Given the description of an element on the screen output the (x, y) to click on. 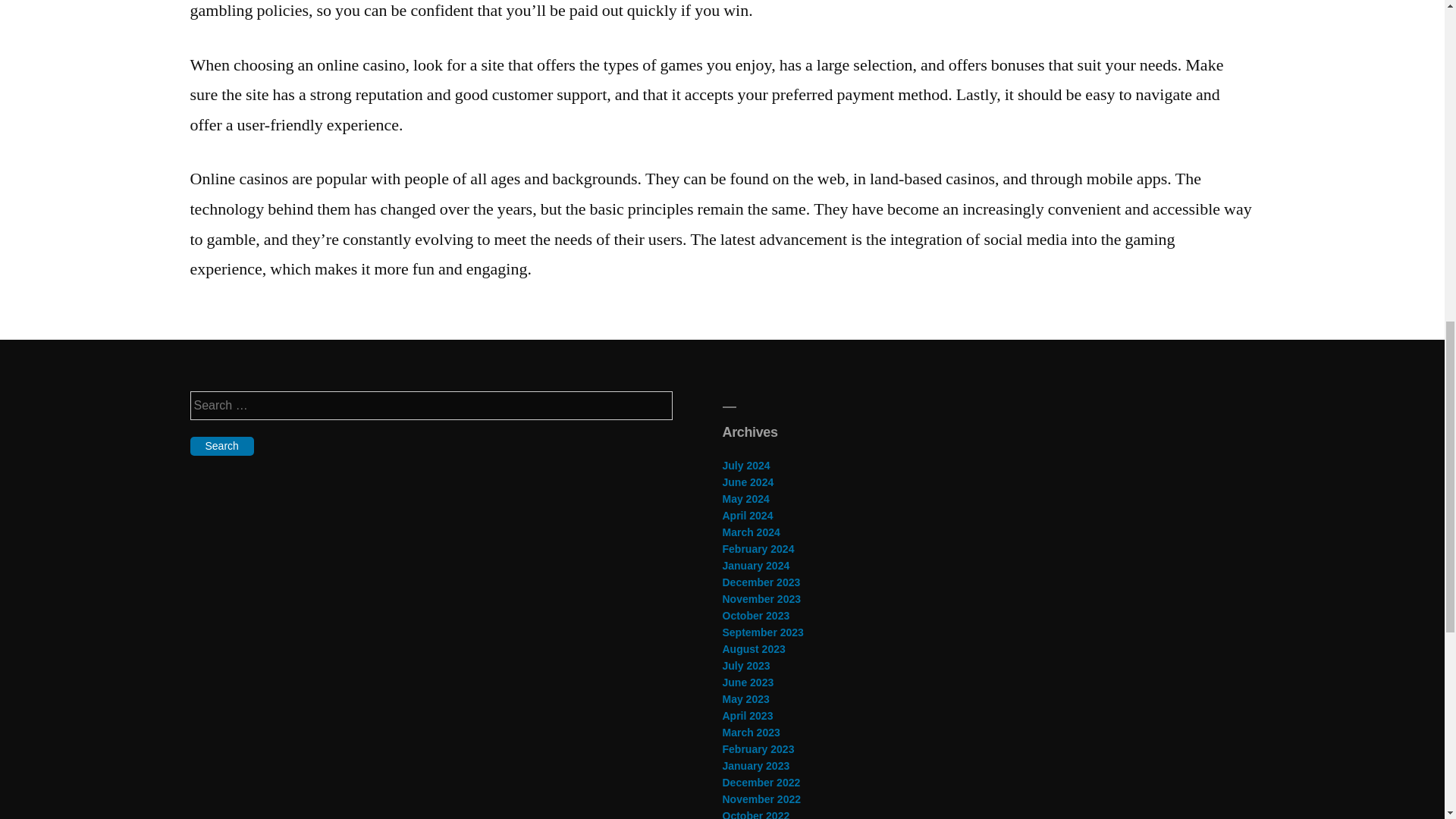
December 2022 (760, 782)
July 2024 (746, 465)
October 2023 (755, 615)
September 2023 (762, 632)
Search (221, 445)
May 2023 (745, 698)
March 2024 (750, 532)
October 2022 (755, 814)
December 2023 (760, 582)
Search (221, 445)
July 2023 (746, 665)
April 2023 (747, 715)
June 2024 (747, 481)
August 2023 (753, 648)
March 2023 (750, 732)
